Given the description of an element on the screen output the (x, y) to click on. 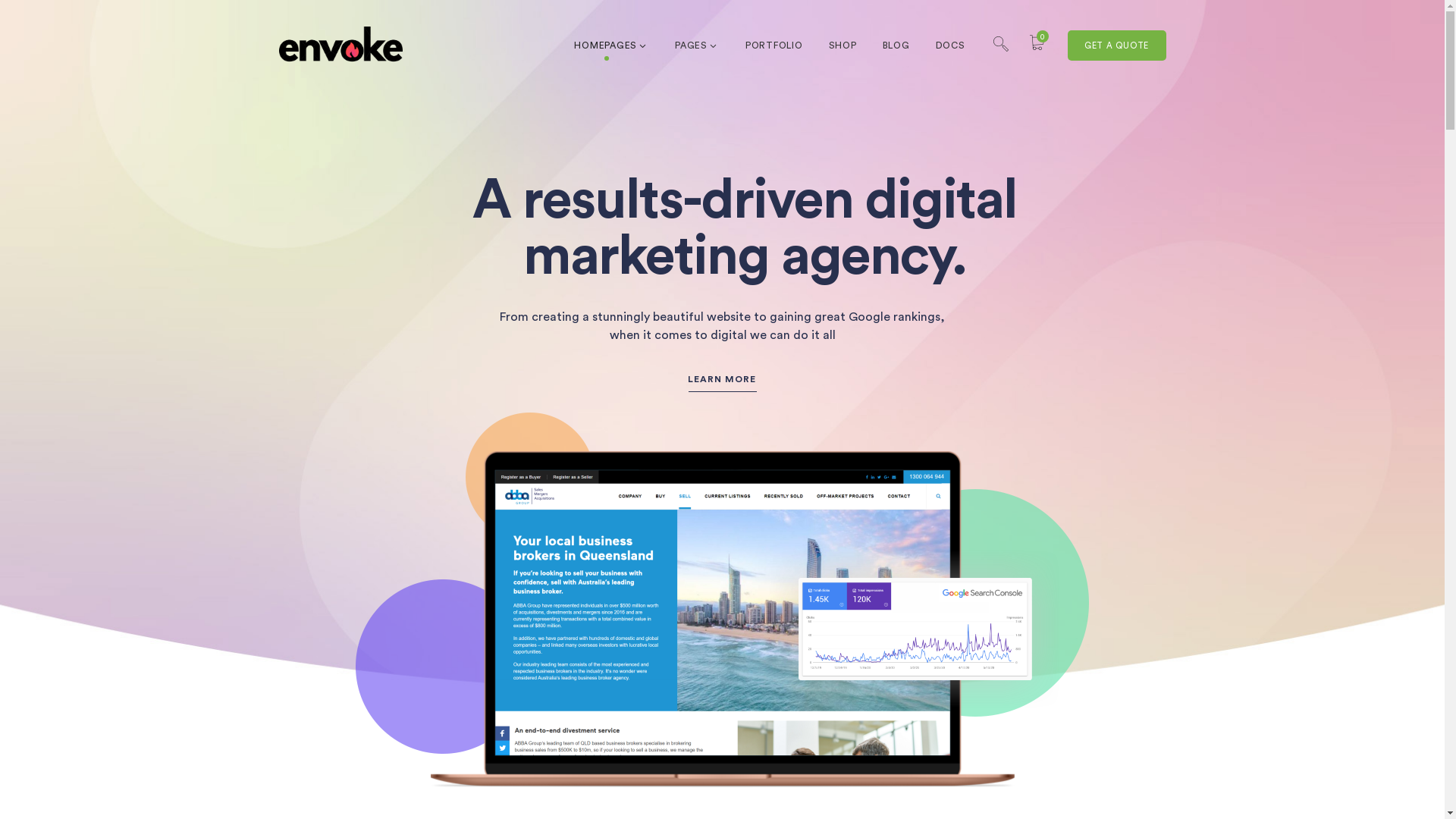
LEARN MORE Element type: text (721, 379)
DOCS Element type: text (950, 45)
SHOP Element type: text (842, 45)
envoke - Digital Marketing Agency - NSW - QLD Element type: hover (340, 46)
GET A QUOTE Element type: text (1116, 45)
BLOG Element type: text (896, 45)
HOMEPAGES Element type: text (611, 45)
PORTFOLIO Element type: text (774, 45)
PAGES Element type: text (696, 45)
0 Element type: text (1036, 45)
